Given the description of an element on the screen output the (x, y) to click on. 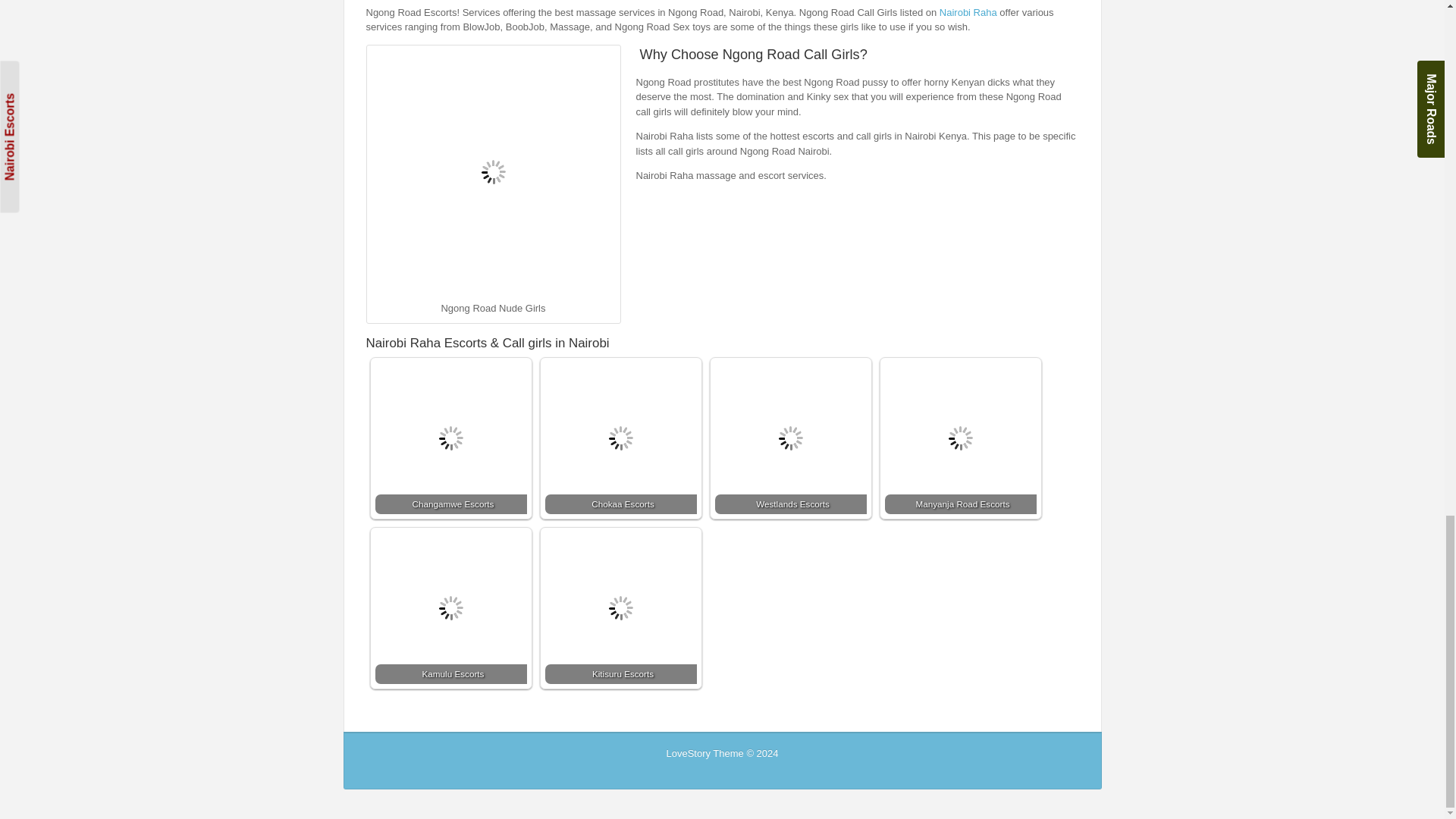
Chokaa Escorts (619, 438)
Kitisuru Escorts (619, 607)
Changamwe Escorts (449, 438)
Manyanja Road Escorts (959, 438)
Westlands Escorts (790, 438)
Kamulu Escorts (449, 607)
